Given the description of an element on the screen output the (x, y) to click on. 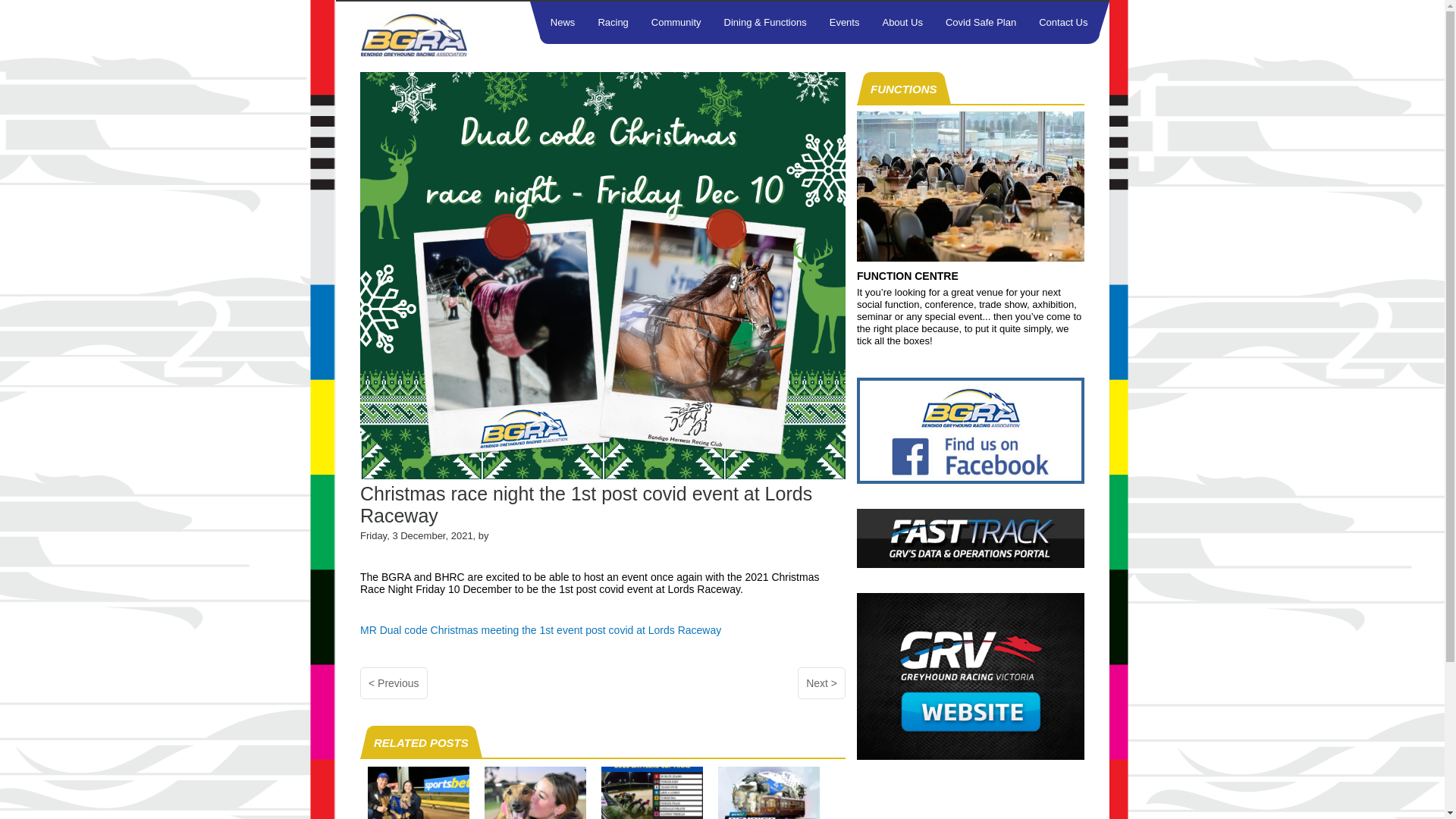
Private Functions Element type: hover (970, 257)
< Previous Element type: text (393, 683)
About Us Element type: text (901, 22)
Dining & Functions Element type: text (765, 22)
  Element type: hover (970, 755)
Covid Safe Plan Element type: text (980, 22)
Bendigo Greyhound Racing Association Element type: hover (426, 33)
Contact Us Element type: text (1062, 22)
Community Element type: text (676, 22)
  Element type: hover (970, 564)
Events Element type: text (844, 22)
News Element type: text (562, 22)
tweet Element type: text (374, 546)
  Element type: hover (970, 479)
tweet Element type: text (375, 718)
Racing Element type: text (612, 22)
Next > Element type: text (821, 683)
